Given the description of an element on the screen output the (x, y) to click on. 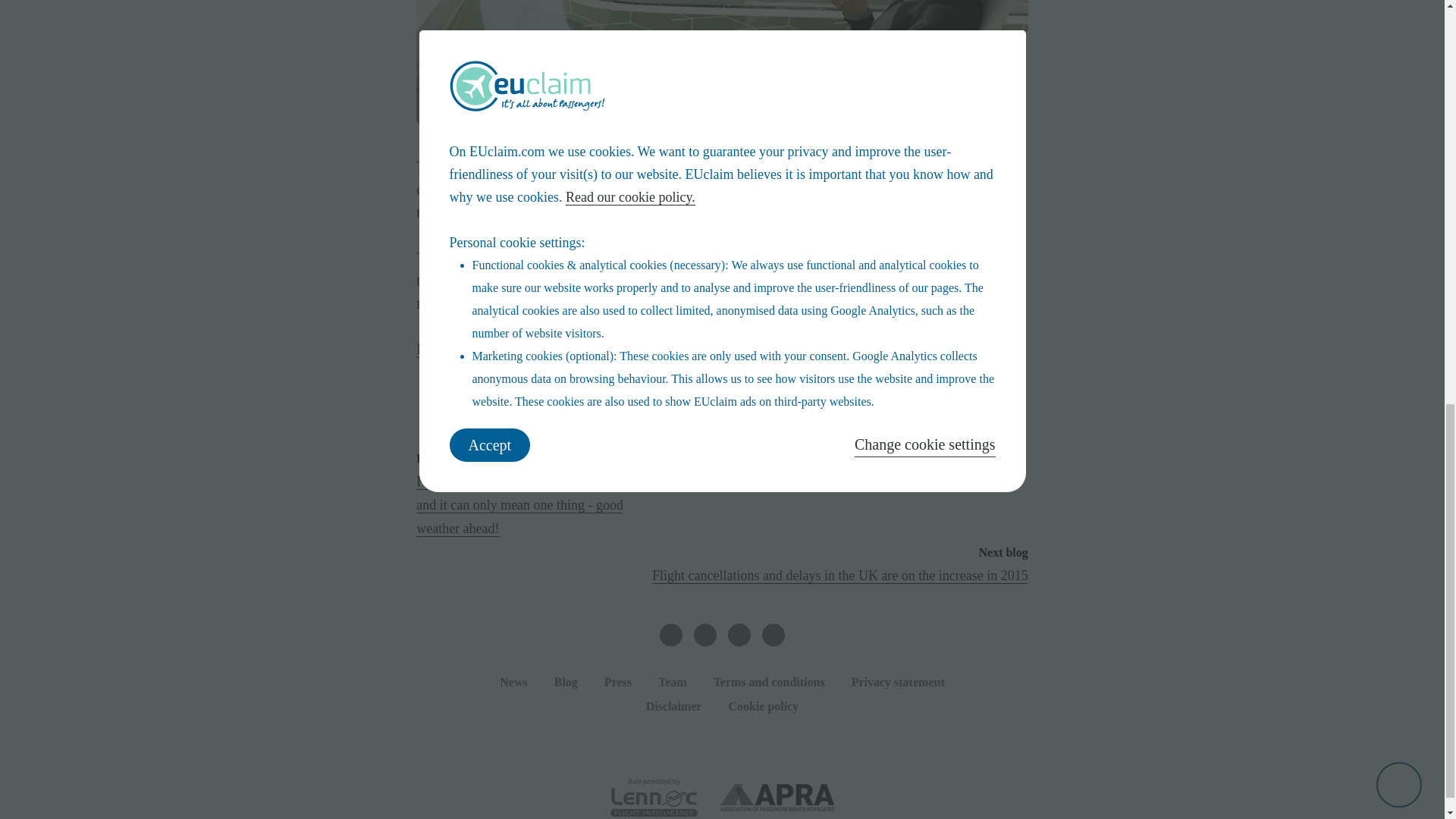
Terms and conditions (769, 681)
Blog (566, 681)
For images and more on this story click here (551, 348)
Free flight check (722, 407)
Privacy statement (897, 681)
News (513, 681)
Press (617, 681)
Cookie policy (762, 706)
Team (672, 681)
